Given the description of an element on the screen output the (x, y) to click on. 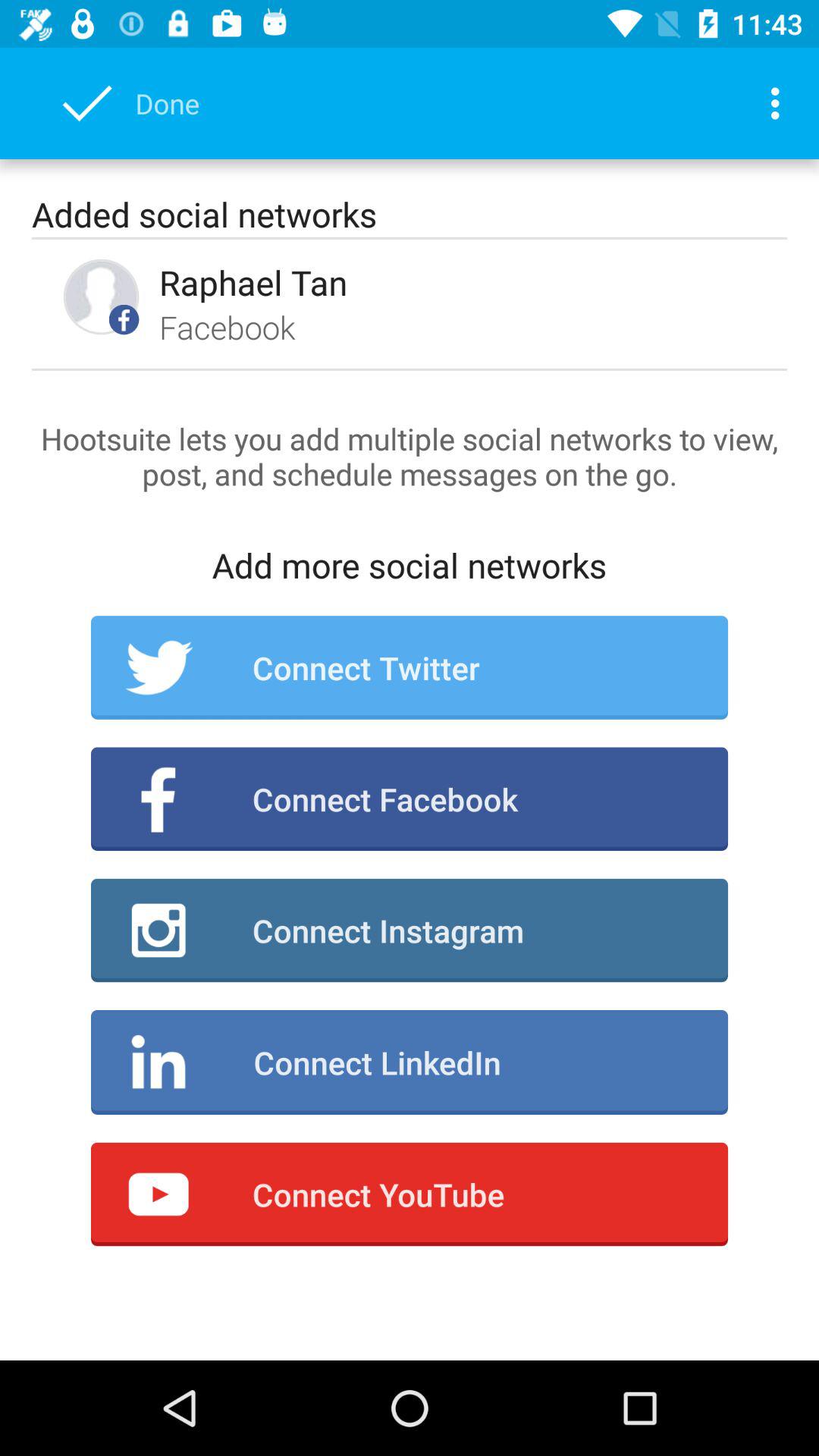
select item to the right of done item (779, 103)
